Given the description of an element on the screen output the (x, y) to click on. 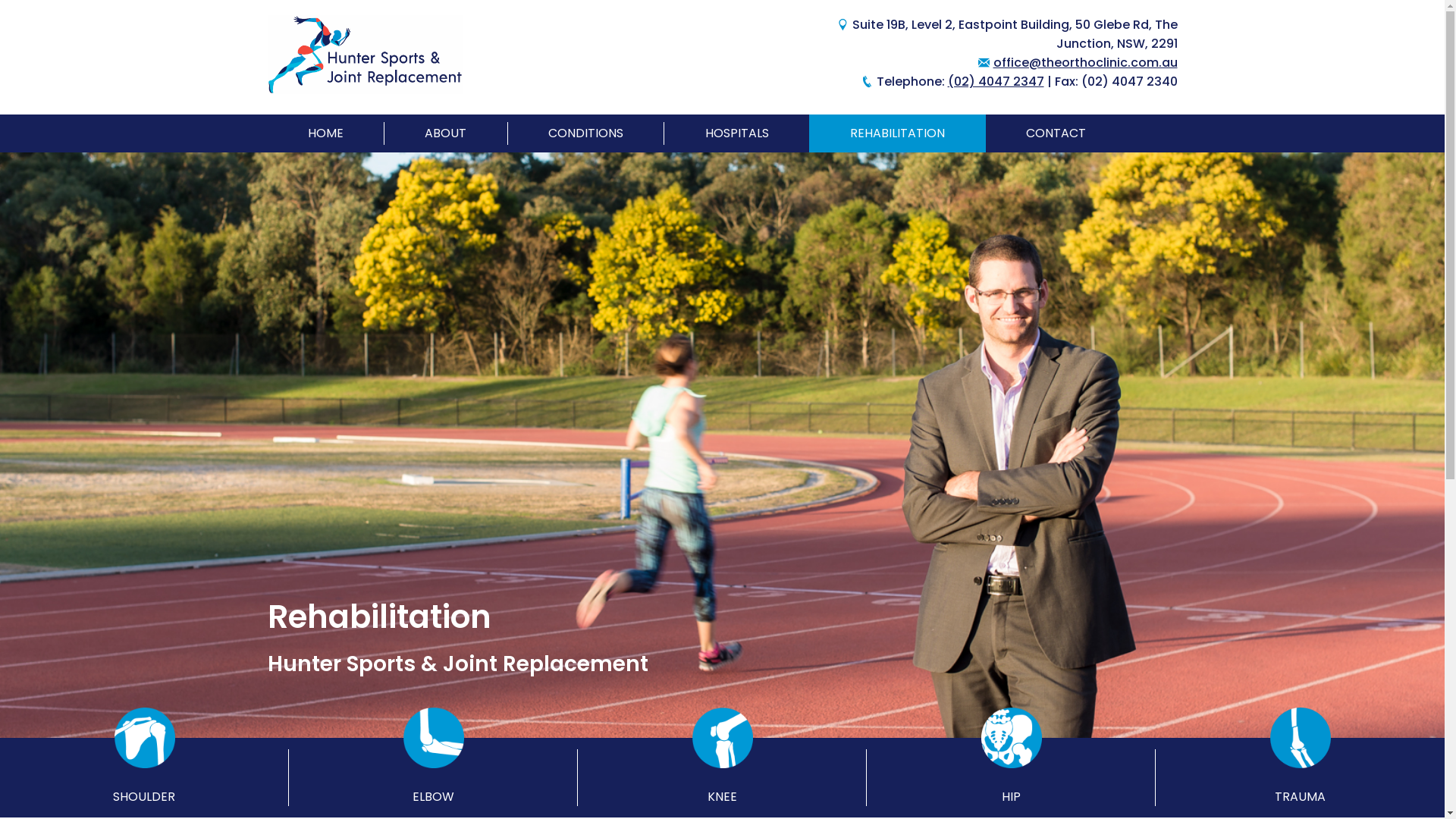
ELBOW Element type: text (432, 777)
SHOULDER Element type: text (144, 777)
office@theorthoclinic.com.au Element type: text (1085, 62)
CONTACT Element type: text (1055, 133)
TRAUMA Element type: text (1299, 777)
HIP Element type: text (1010, 777)
HOSPITALS Element type: text (736, 133)
ABOUT Element type: text (445, 133)
KNEE Element type: text (721, 777)
(02) 4047 2347 Element type: text (995, 81)
HOME Element type: text (325, 133)
REHABILITATION Element type: text (897, 133)
CONDITIONS Element type: text (585, 133)
